Given the description of an element on the screen output the (x, y) to click on. 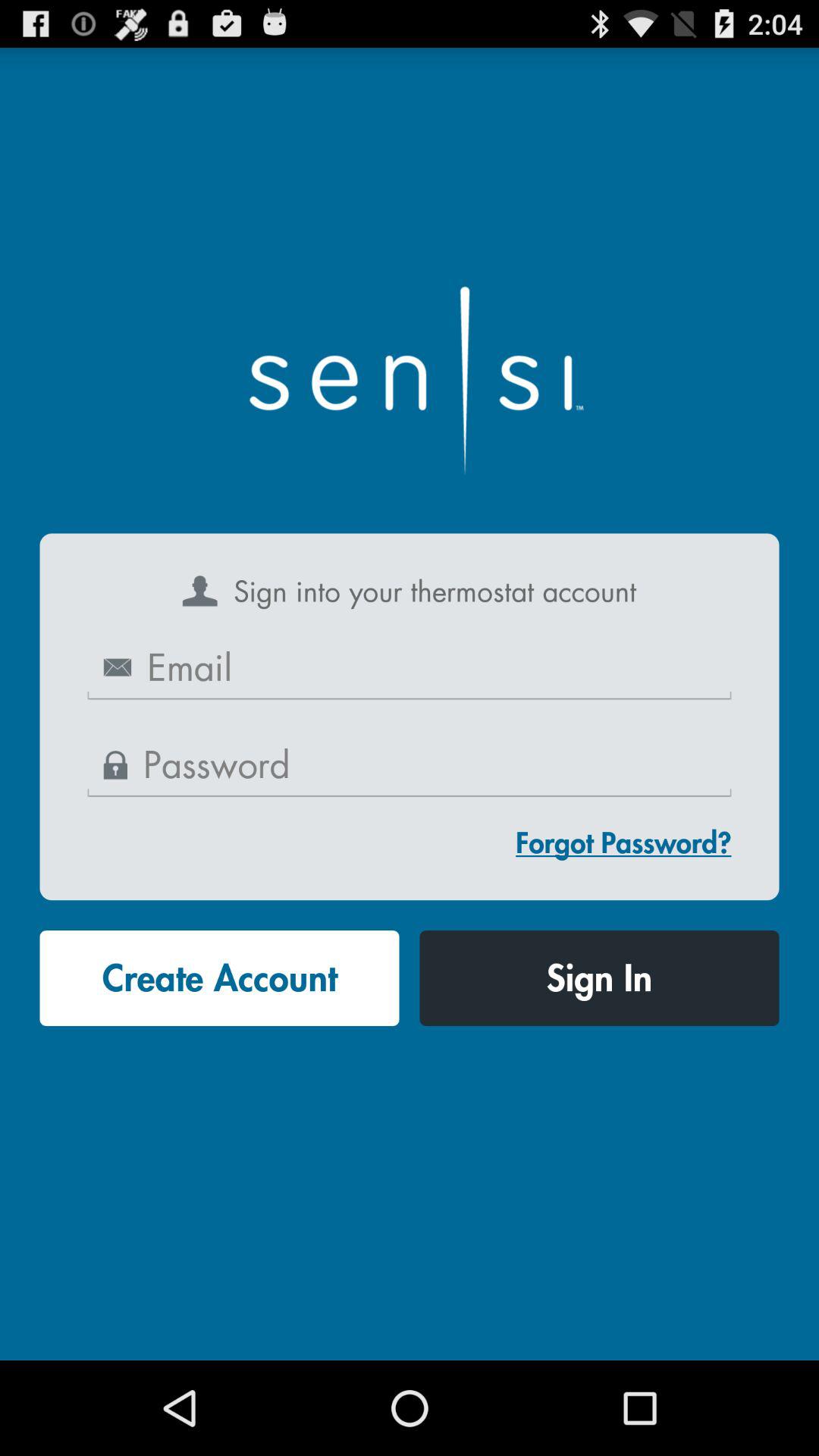
open button next to sign in icon (219, 978)
